Given the description of an element on the screen output the (x, y) to click on. 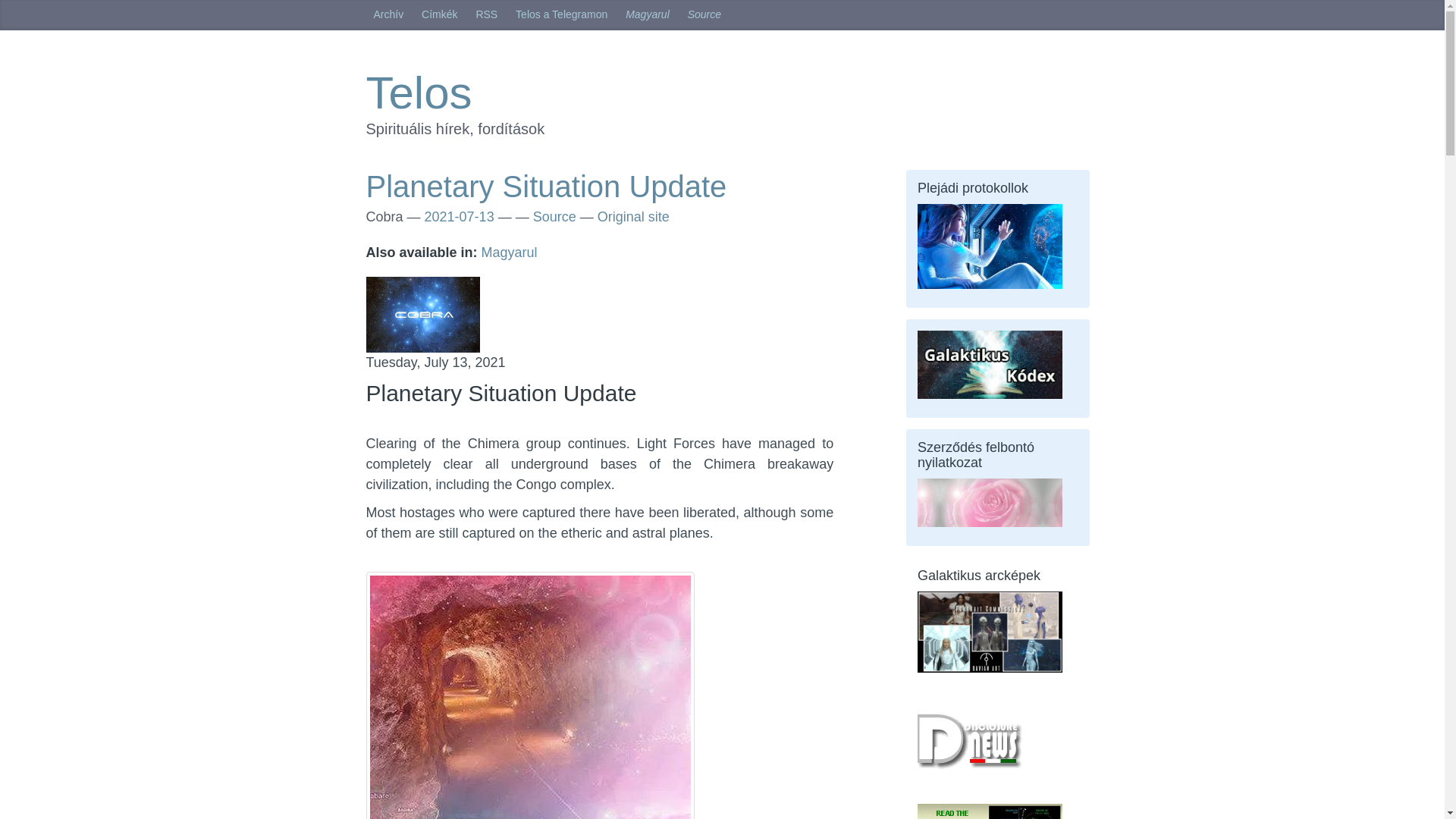
Magyarul (509, 252)
Source (704, 15)
Planetary Situation Update (545, 186)
Telos a Telegramon (561, 15)
Source (554, 216)
2021-07-13 (460, 216)
Original site (632, 216)
RSS (486, 15)
2021-07-13 (460, 216)
Telos (418, 92)
Magyarul (647, 15)
